Given the description of an element on the screen output the (x, y) to click on. 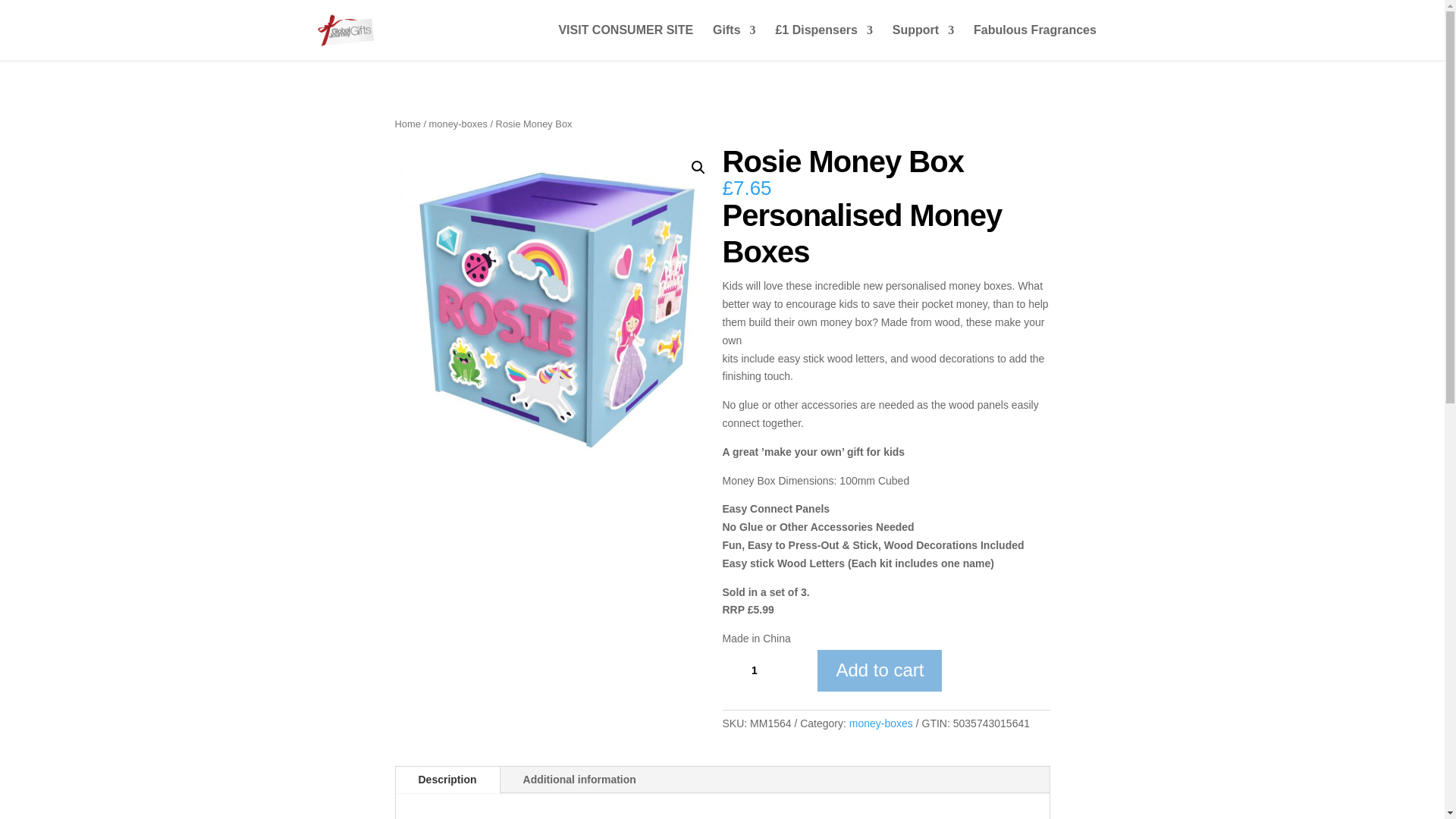
Gifts (734, 42)
mm1564-rosie-moneybox-01 (558, 309)
VISIT CONSUMER SITE (625, 42)
1 (759, 671)
